Given the description of an element on the screen output the (x, y) to click on. 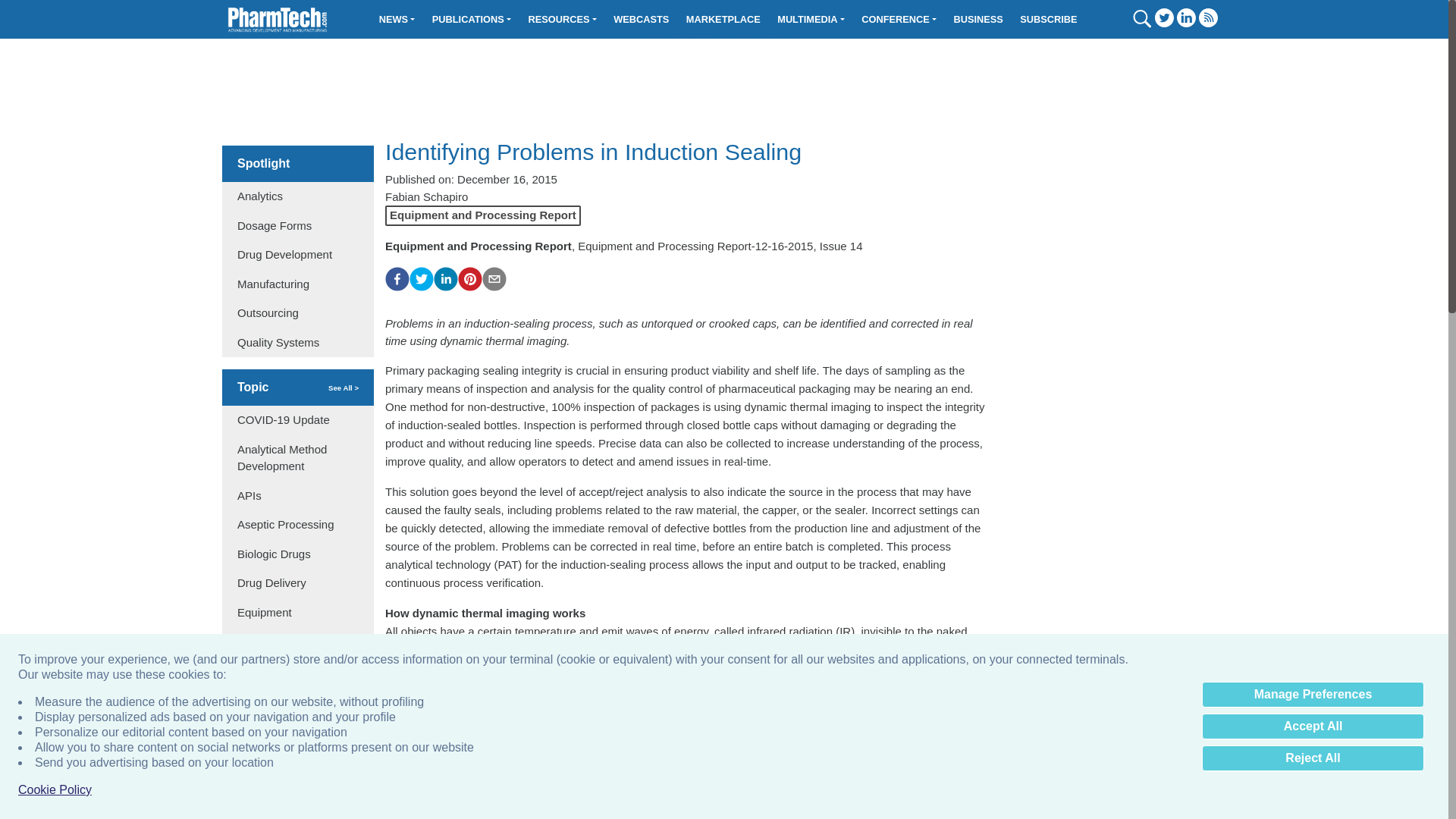
NEWS (397, 18)
Cookie Policy (54, 789)
Manage Preferences (1312, 694)
Reject All (1312, 758)
Accept All (1312, 726)
